Given the description of an element on the screen output the (x, y) to click on. 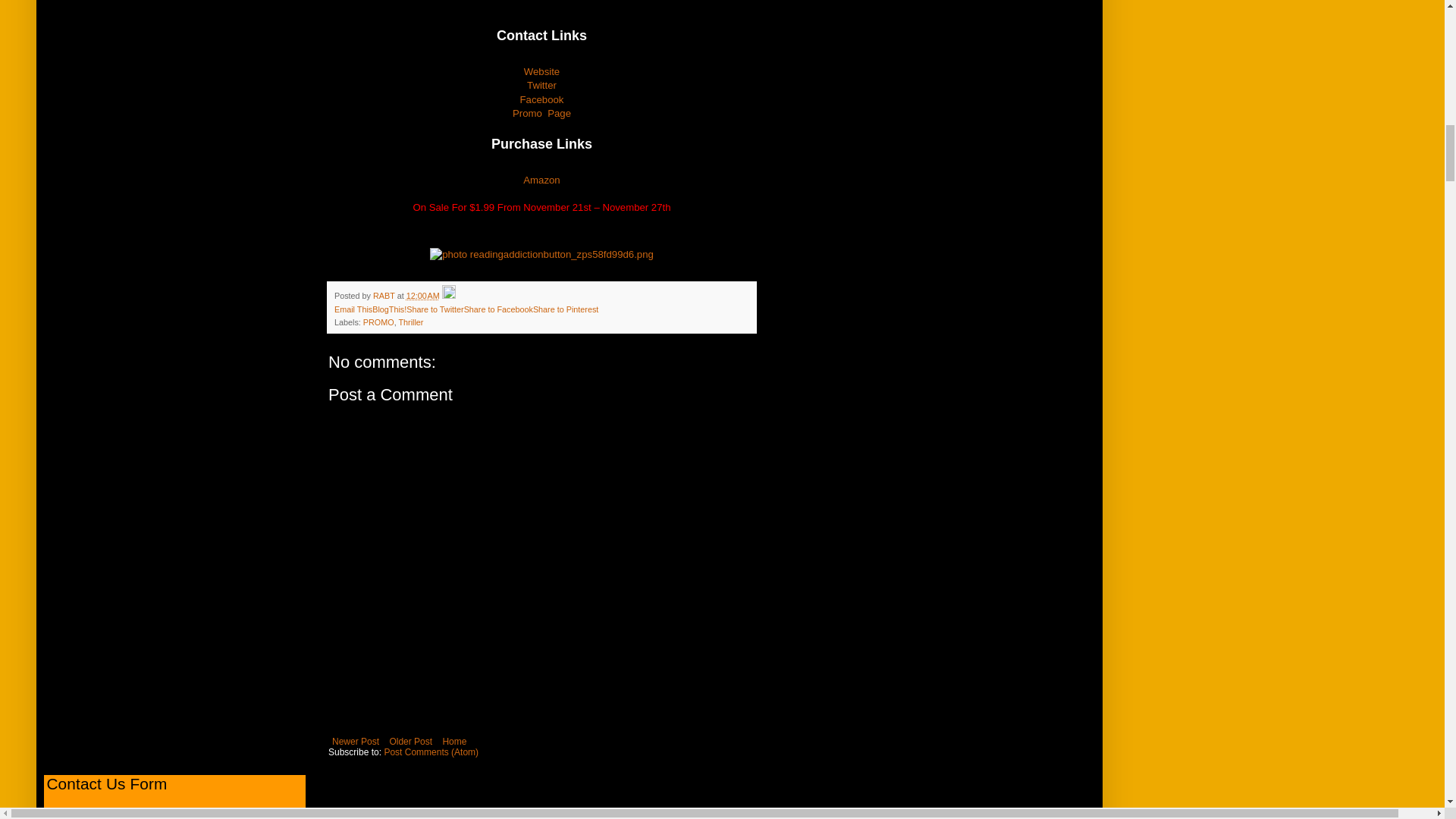
BlogThis! (389, 308)
PROMO (378, 321)
Share to Pinterest (565, 308)
Older Post (410, 741)
Website (541, 71)
Amazon (540, 179)
author profile (384, 295)
permanent link (422, 295)
Share to Facebook (498, 308)
Share to Facebook (498, 308)
Facebook (541, 99)
Promo  Page (541, 112)
Twitter (541, 84)
Share to Twitter (434, 308)
Email This (353, 308)
